Given the description of an element on the screen output the (x, y) to click on. 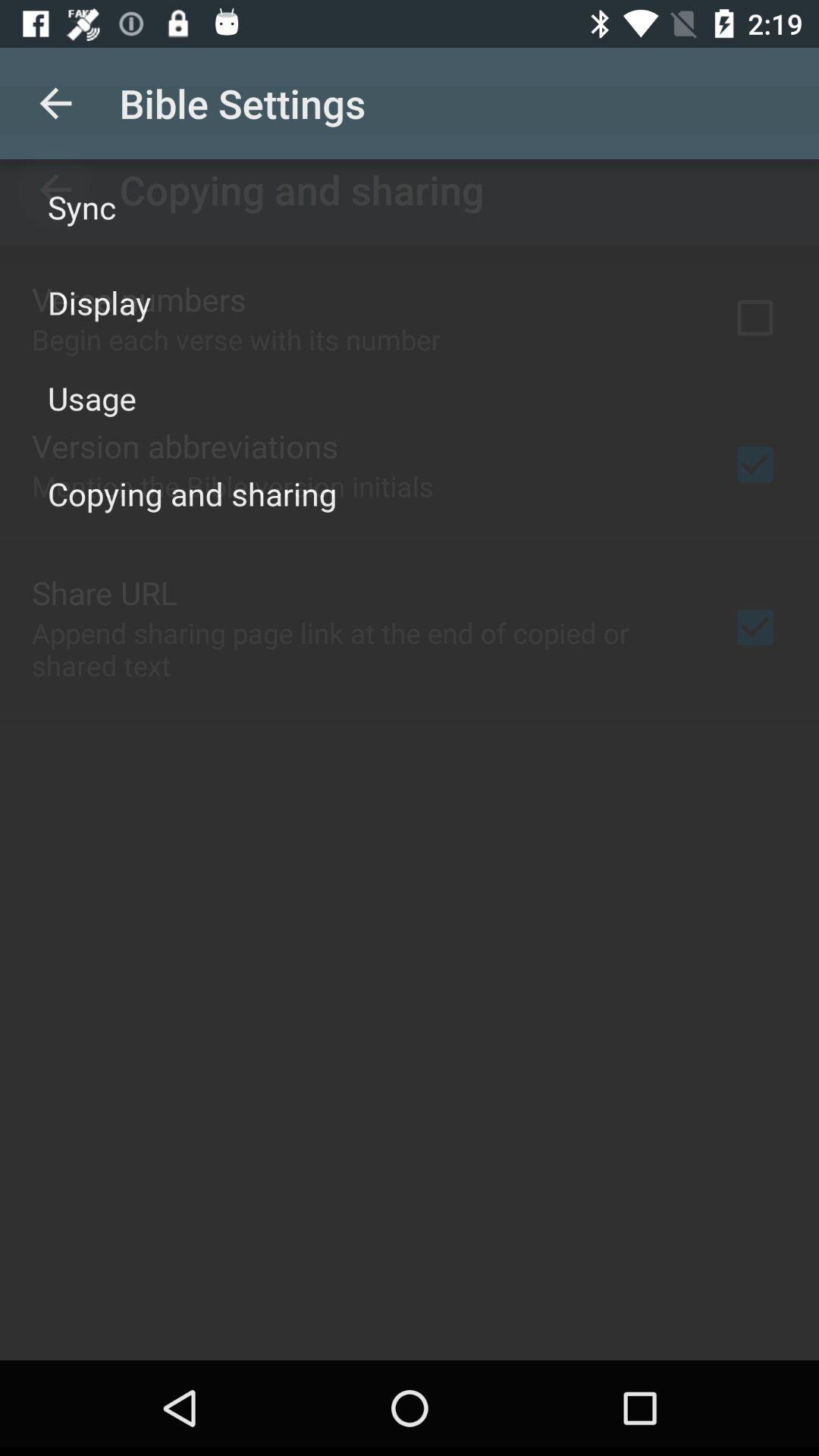
select the icon below display (91, 397)
